Given the description of an element on the screen output the (x, y) to click on. 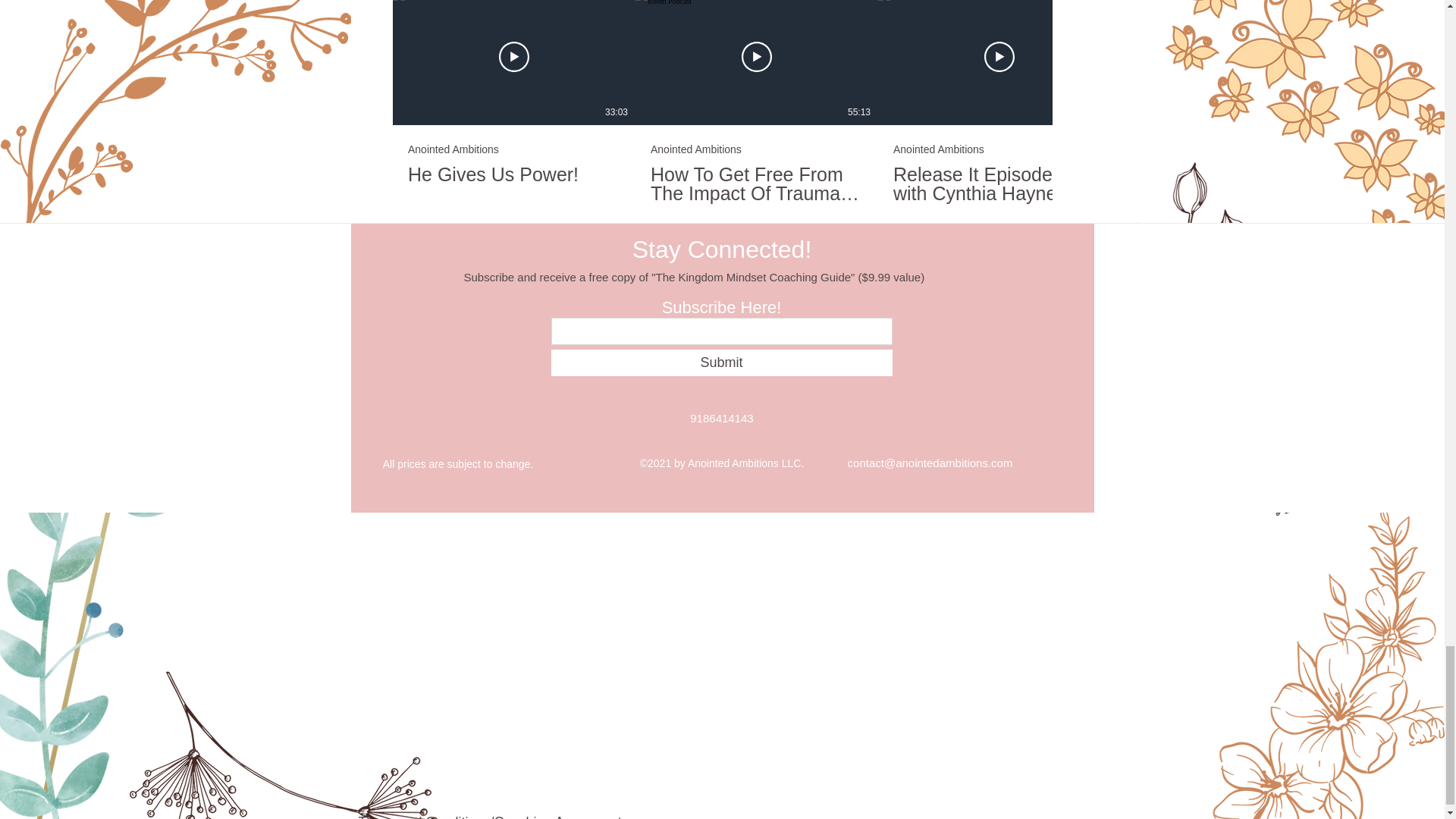
Release It Episode 2 with Cynthia Haynes (999, 183)
He Gives Us Power! (513, 173)
